Given the description of an element on the screen output the (x, y) to click on. 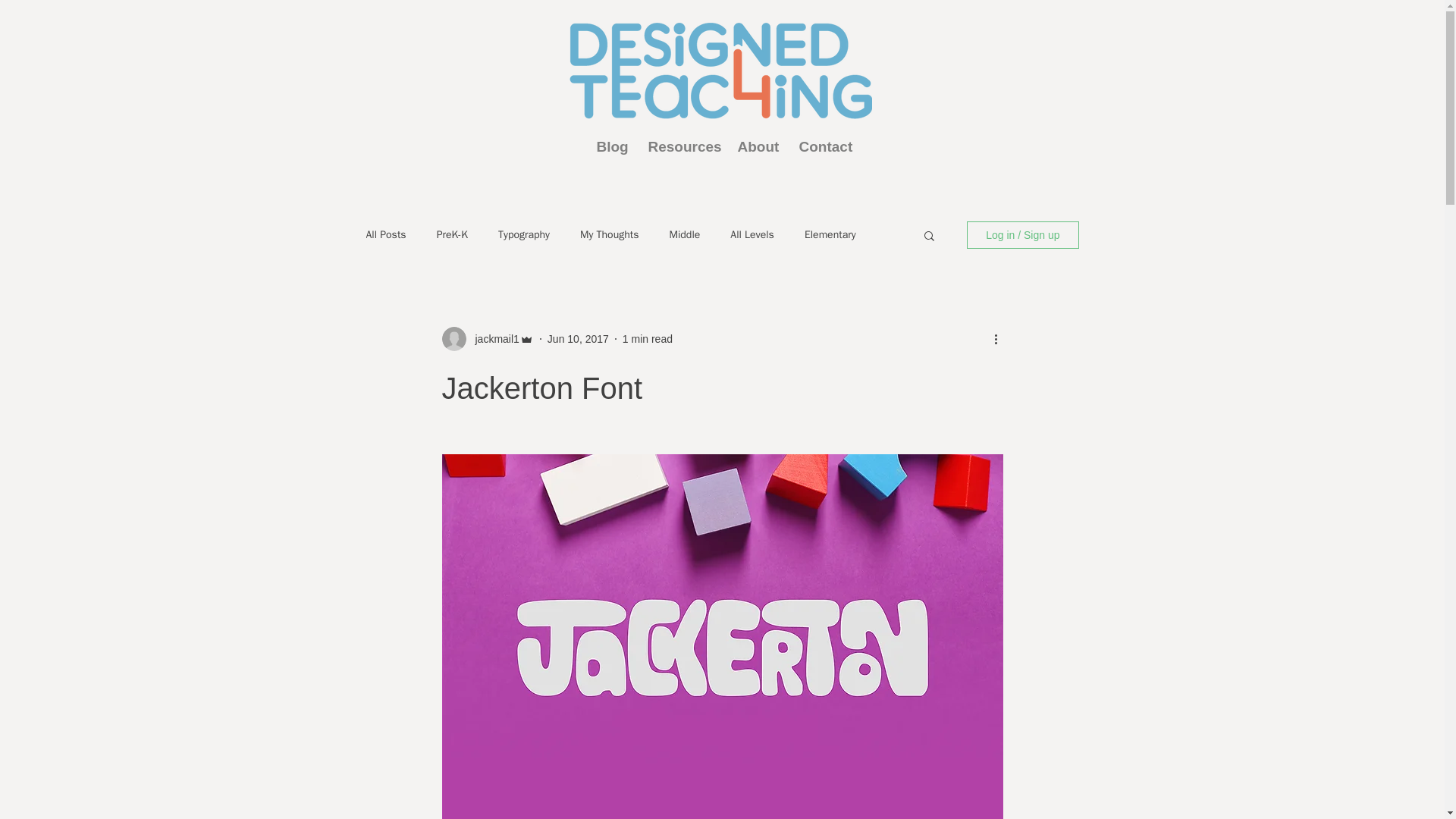
jackmail1 (491, 338)
PreK-K (451, 234)
Jun 10, 2017 (577, 337)
All Levels (752, 234)
1 min read (647, 337)
Typography (523, 234)
Elementary (830, 234)
Resources (681, 146)
Blog (611, 146)
About (756, 146)
My Thoughts (609, 234)
Contact (823, 146)
Middle (684, 234)
All Posts (385, 234)
